Given the description of an element on the screen output the (x, y) to click on. 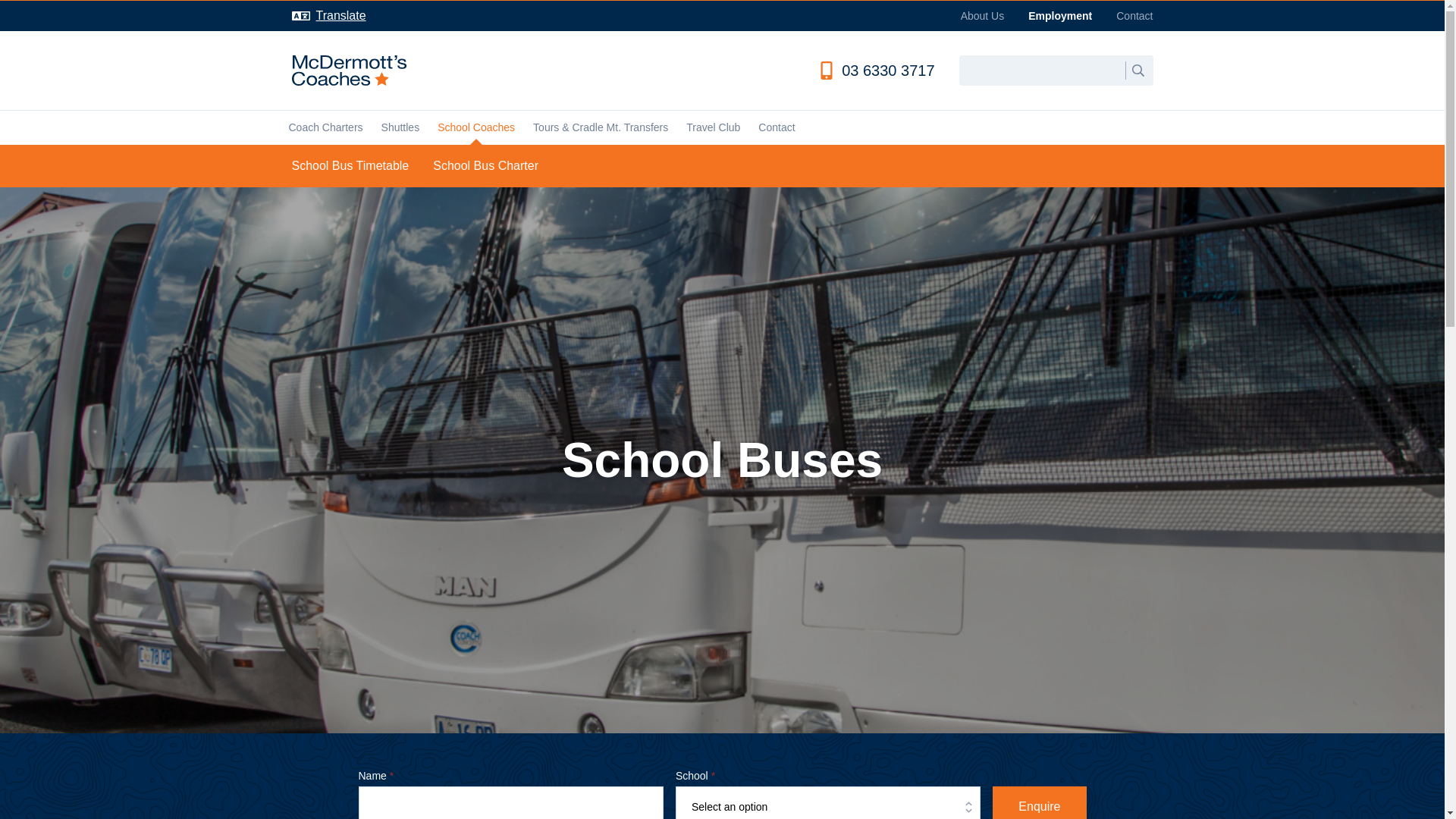
Translate Element type: text (328, 15)
Coach Charters Element type: text (325, 127)
Travel Club Element type: text (713, 127)
School Bus Timetable Element type: text (349, 165)
School Coaches Element type: text (476, 127)
Shuttles Element type: text (400, 127)
Contact Element type: text (1134, 15)
About Us Element type: text (982, 15)
Employment Element type: text (1060, 15)
Contact Element type: text (776, 127)
Tours & Cradle Mt. Transfers Element type: text (600, 127)
School Bus Charter Element type: text (485, 165)
